Given the description of an element on the screen output the (x, y) to click on. 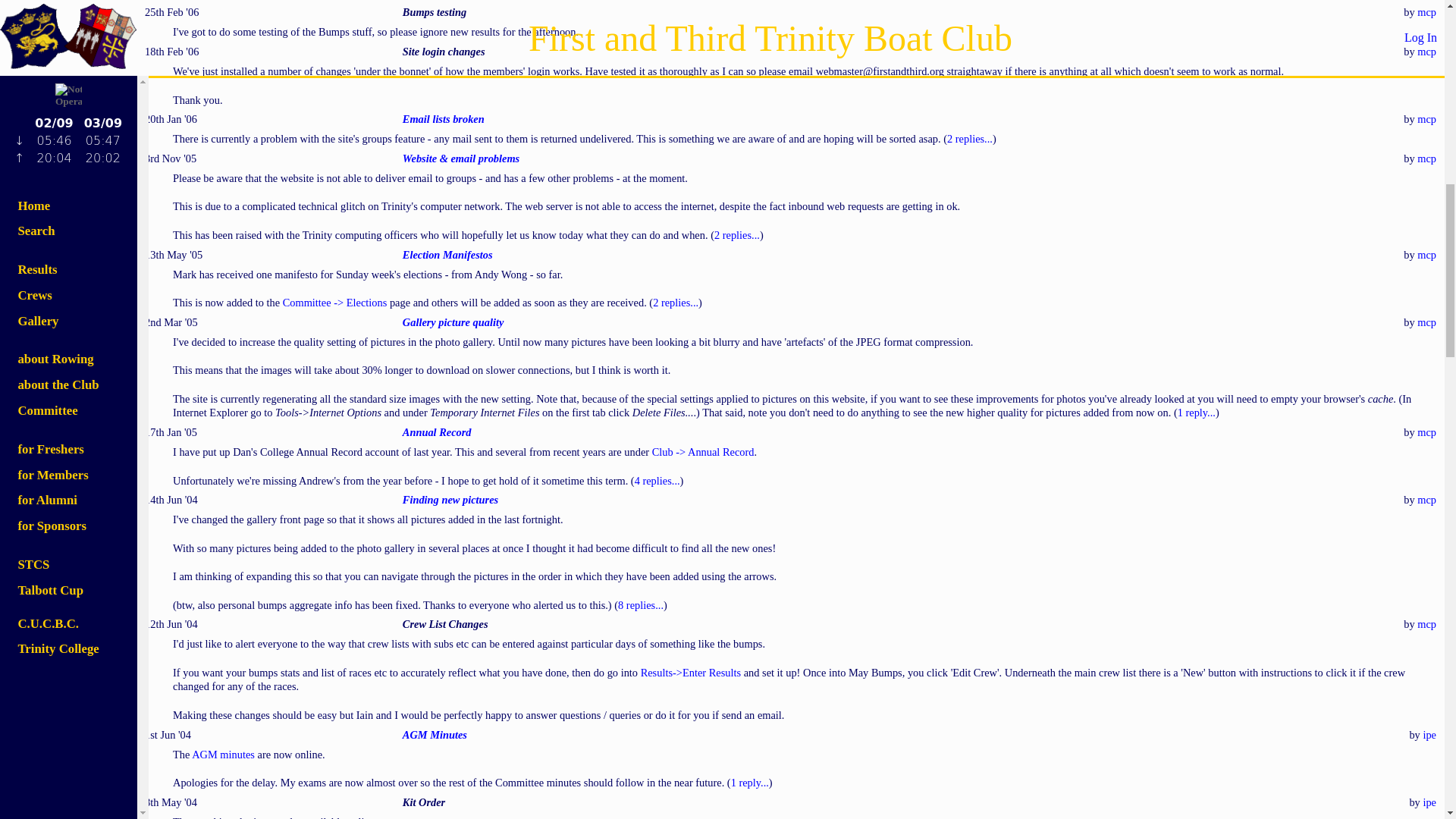
Email lists broken (443, 119)
Election Manifestos (448, 254)
2 replies... (737, 234)
2 replies... (969, 138)
